Given the description of an element on the screen output the (x, y) to click on. 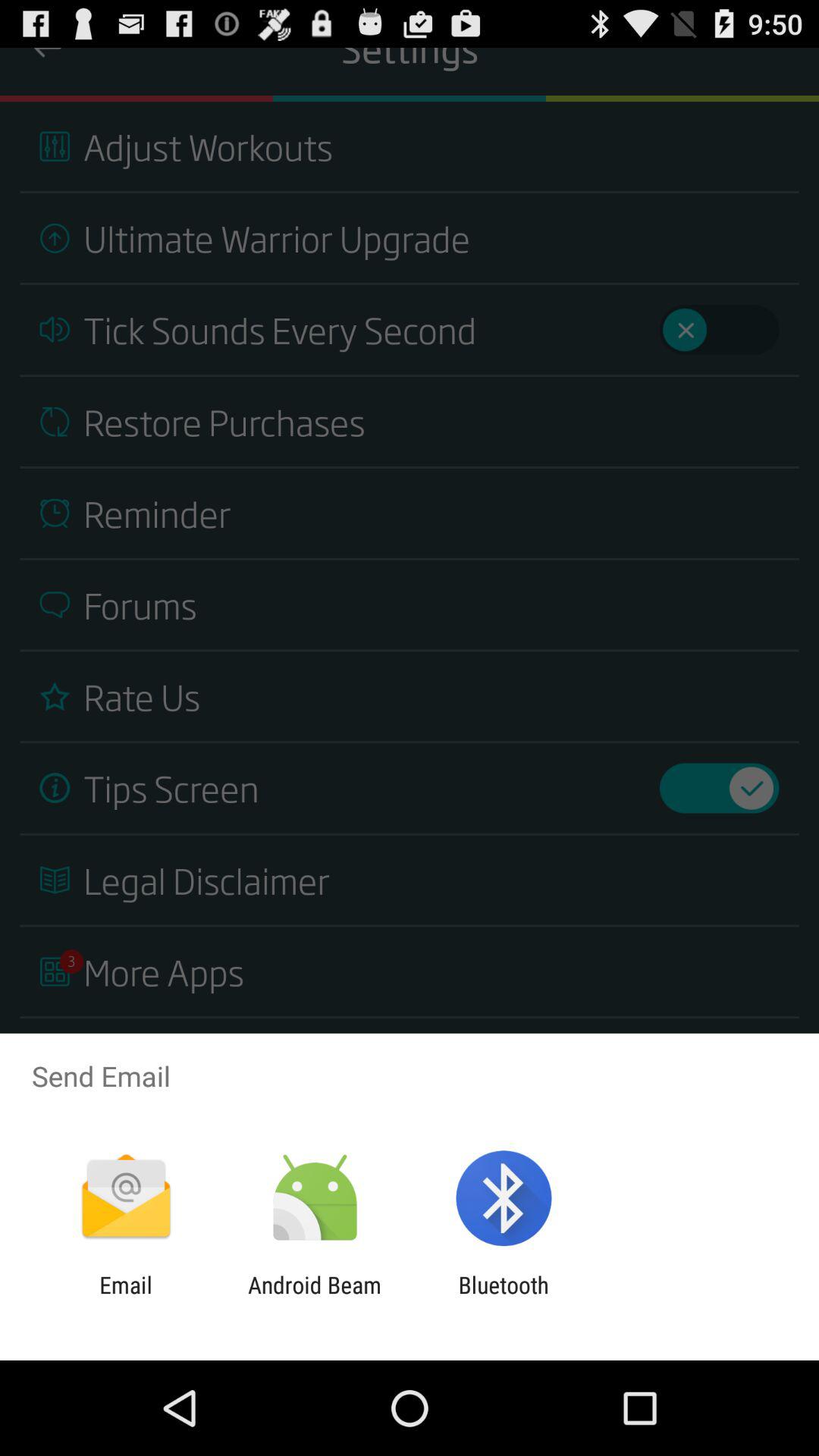
turn on the app next to the email icon (314, 1298)
